Given the description of an element on the screen output the (x, y) to click on. 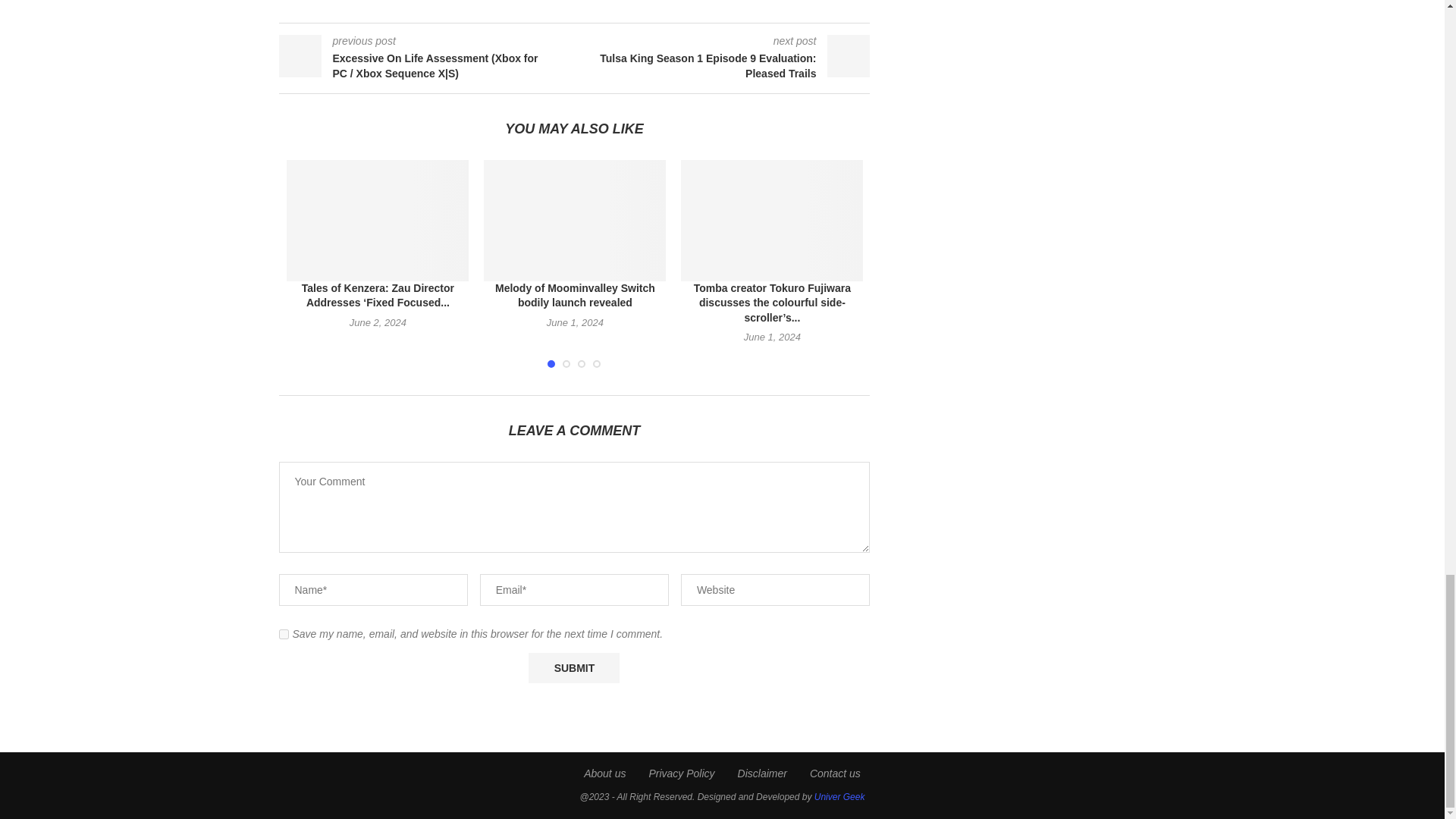
yes (283, 634)
Melody of Moominvalley Switch bodily launch revealed (574, 220)
Submit (574, 667)
